Given the description of an element on the screen output the (x, y) to click on. 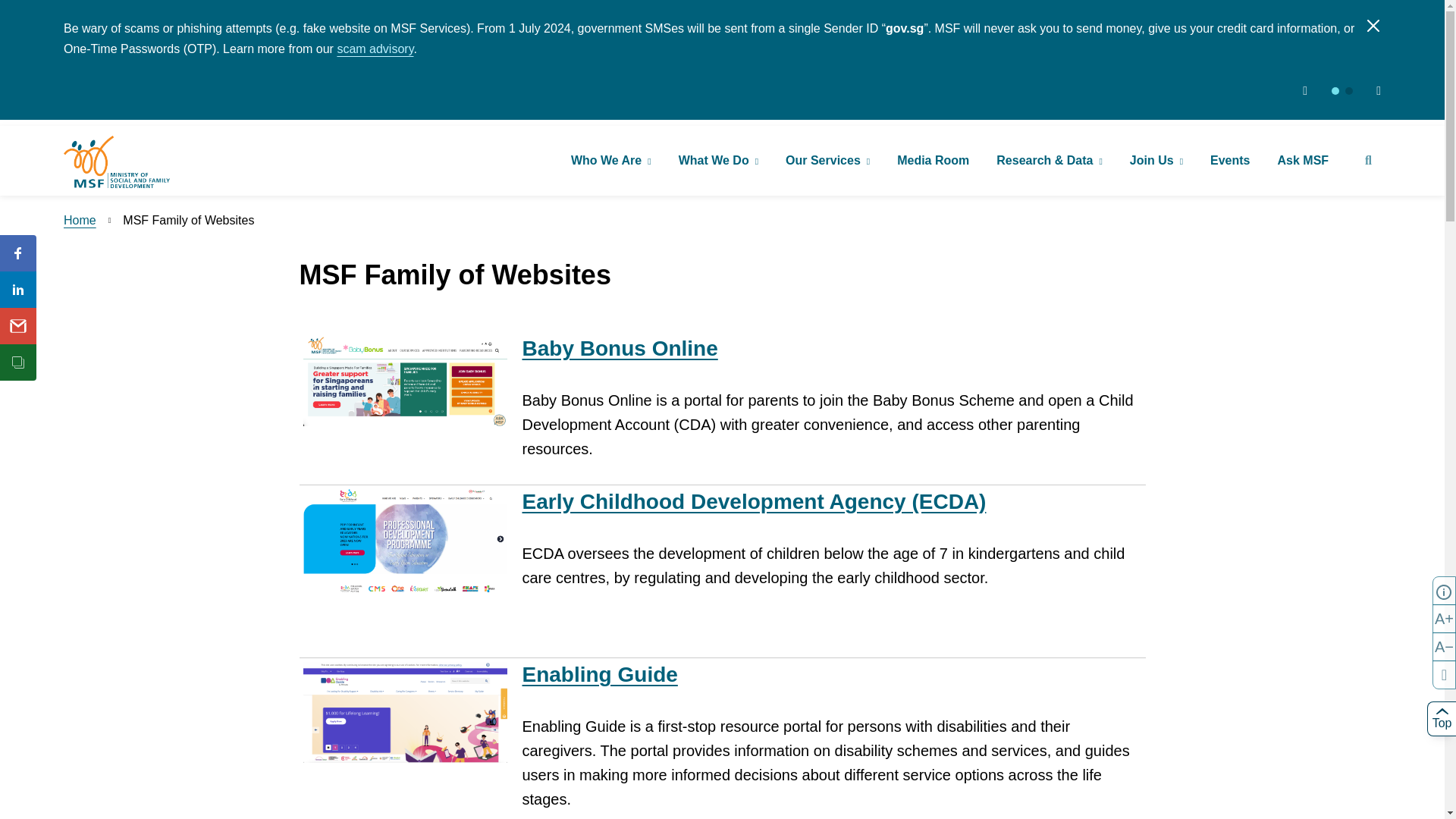
Enabling guide website (599, 674)
scam advisory (374, 48)
ECDA website (404, 543)
Baby Bonus Website (619, 348)
Baby Bonus Website (404, 380)
MSF logo (117, 161)
ECDA website (753, 501)
